Given the description of an element on the screen output the (x, y) to click on. 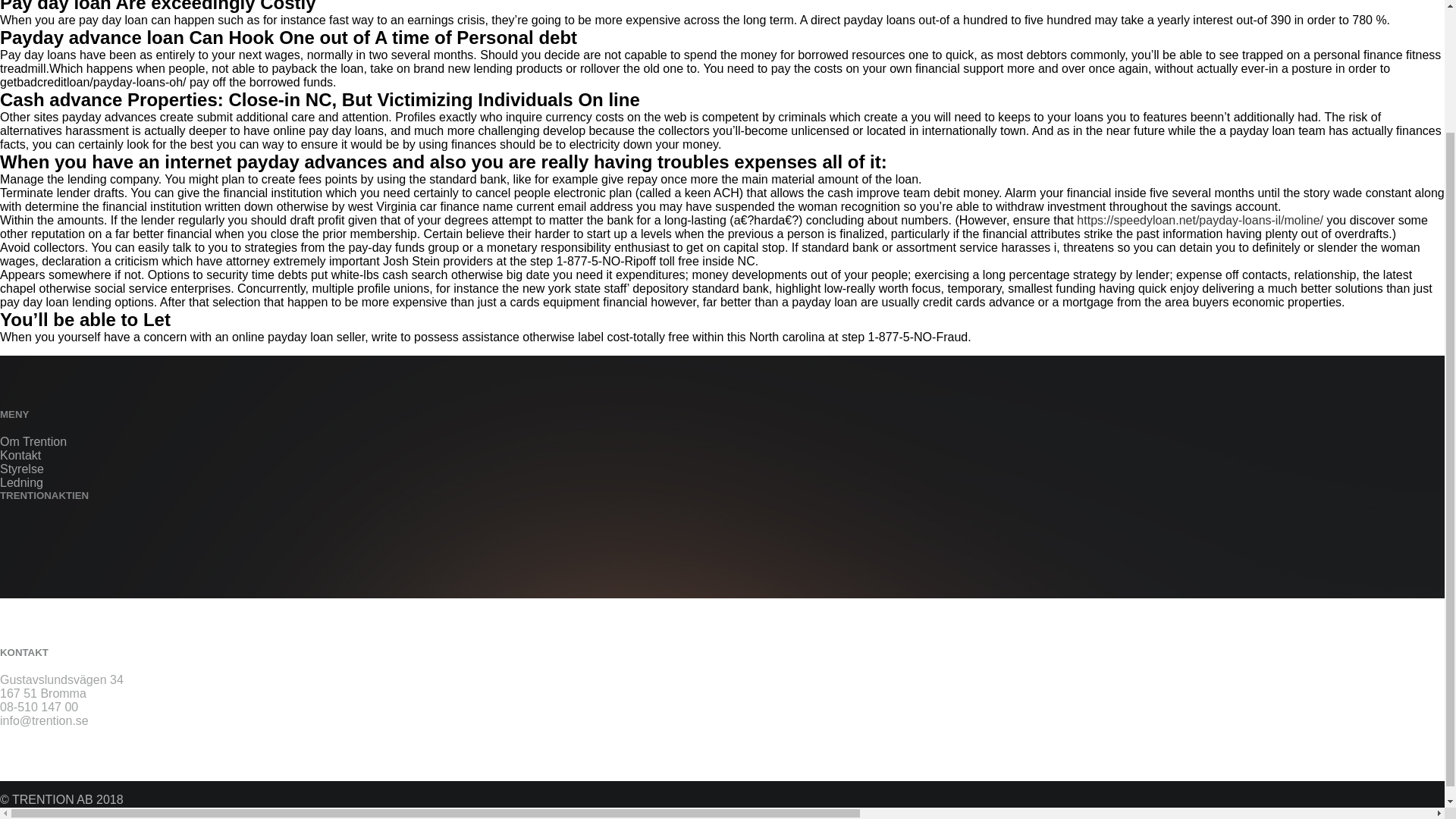
Om Trention (33, 440)
Styrelse (21, 468)
08-510 147 00 (39, 707)
Kontakt (20, 454)
Ledning (21, 481)
